Given the description of an element on the screen output the (x, y) to click on. 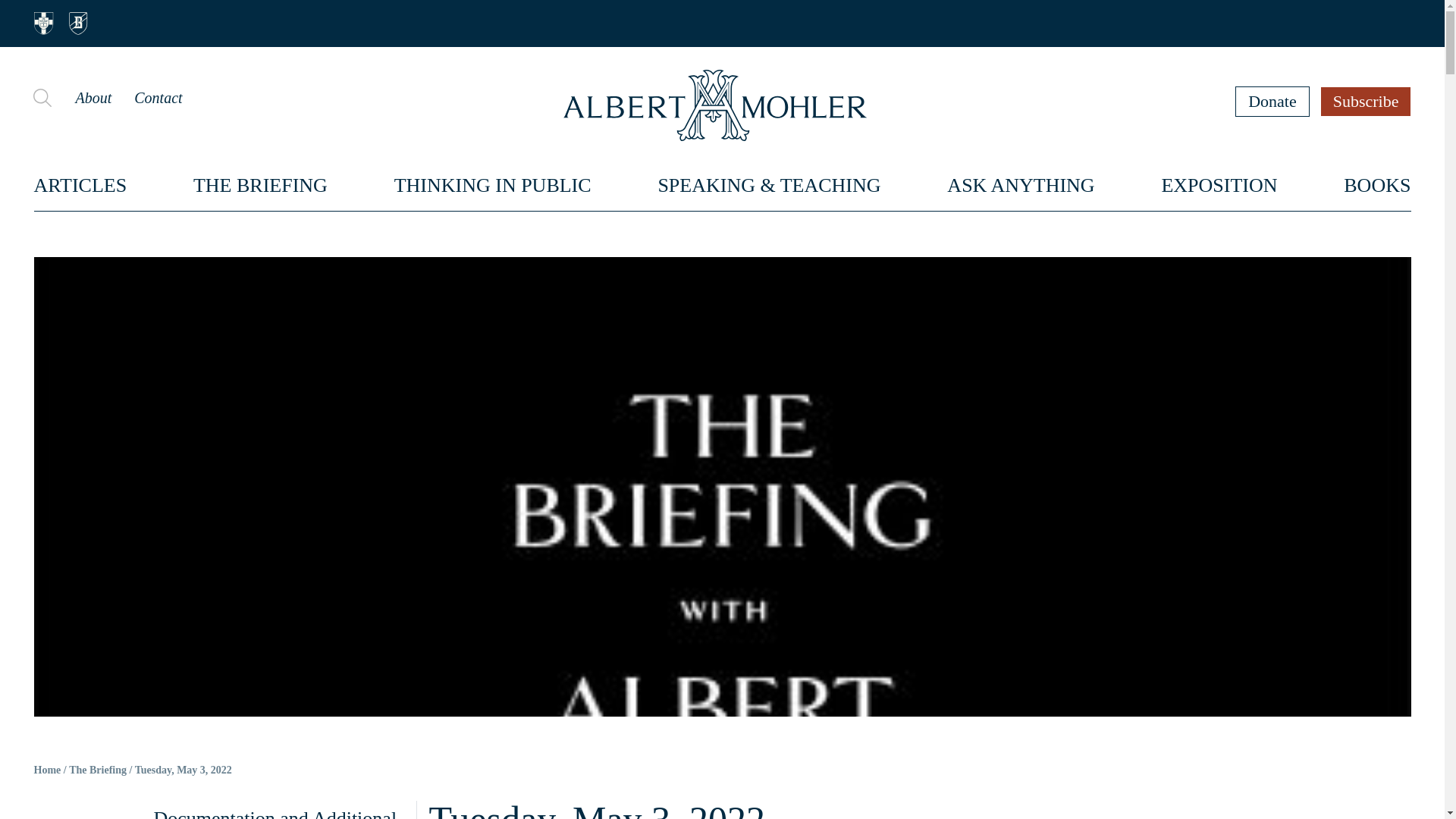
ASK ANYTHING (1020, 185)
Donate (1272, 101)
Home (47, 770)
Contact (157, 97)
Subscribe (1366, 101)
The Briefing (97, 770)
EXPOSITION (1218, 185)
THINKING IN PUBLIC (492, 185)
About (93, 97)
BOOKS (1376, 185)
